Given the description of an element on the screen output the (x, y) to click on. 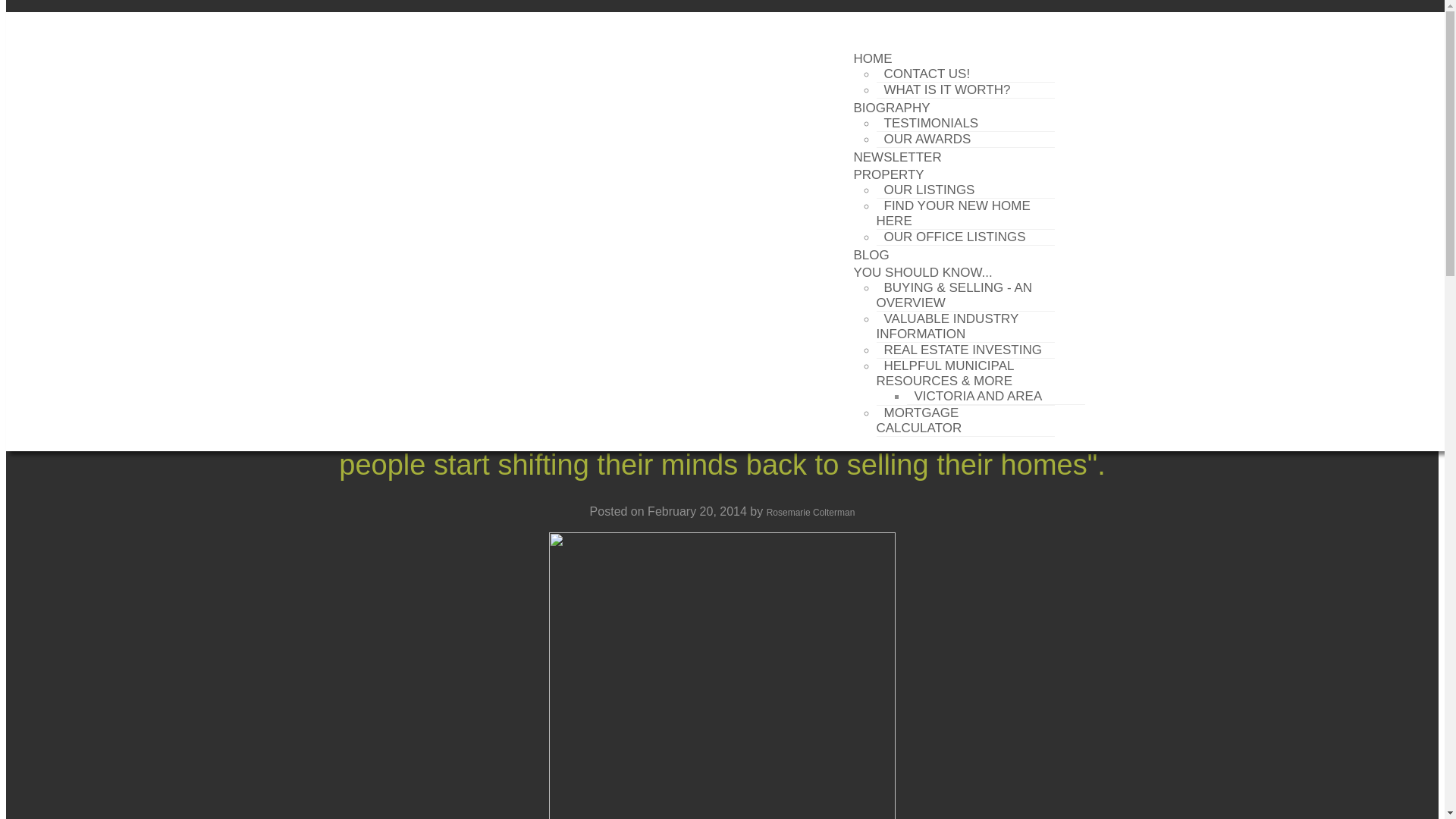
FIND YOUR NEW HOME HERE (953, 213)
778 433-6064 (978, 22)
SIGN IN (274, 22)
OUR LISTINGS (929, 189)
VALUABLE INDUSTRY INFORMATION (947, 326)
NEWSLETTER (897, 157)
HOME (872, 58)
WHAT IS IT WORTH? (946, 89)
VICTORIA AND AREA (978, 395)
REAL ESTATE INVESTING (962, 349)
